Given the description of an element on the screen output the (x, y) to click on. 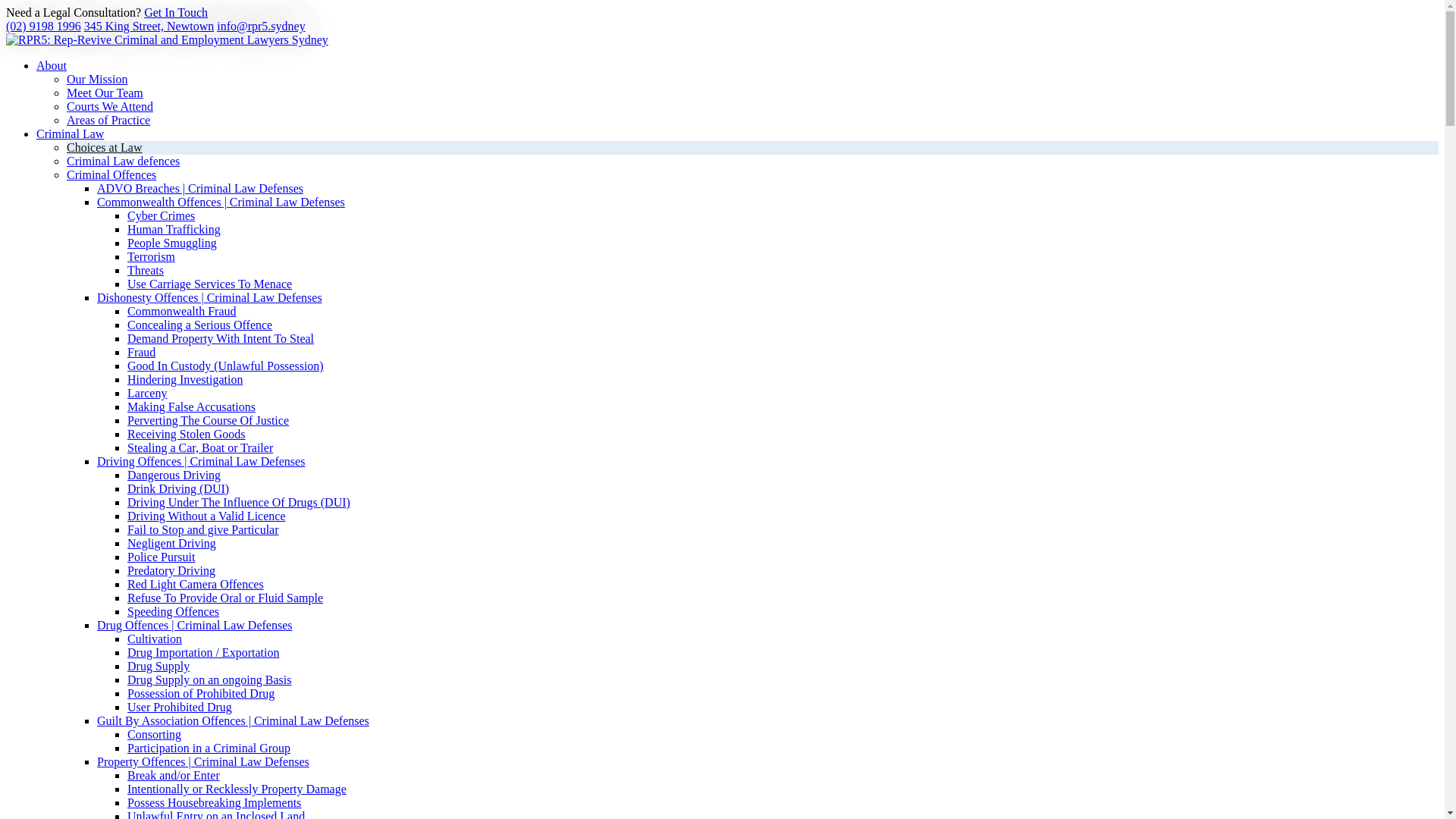
Larceny (147, 392)
345 King Street, Newtown (149, 25)
People Smuggling (172, 242)
Meet Our Team (104, 92)
Human Trafficking (174, 228)
Terrorism (151, 256)
Our Mission (97, 78)
Threats (145, 269)
Hindering Investigation (185, 379)
Concealing a Serious Offence (200, 324)
